Given the description of an element on the screen output the (x, y) to click on. 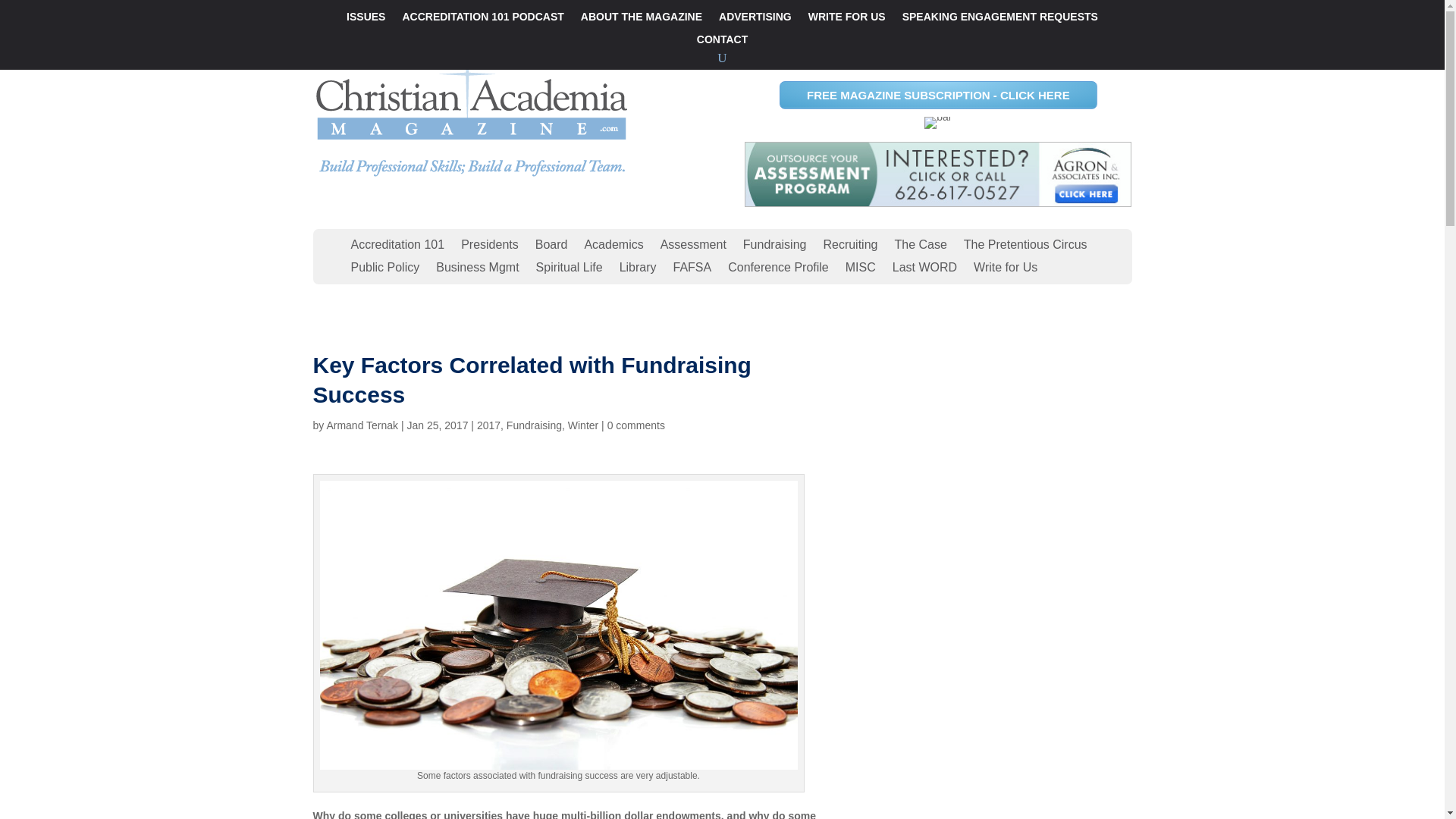
ChristianAcademiaMagazine-logo (471, 112)
FREE MAGAZINE SUBSCRIPTION - CLICK HERE (937, 94)
Public Policy (384, 270)
CONTACT (722, 42)
Accreditation 101 (397, 247)
Winter (582, 425)
WRITE FOR US (846, 19)
Recruiting (849, 247)
Fundraising (534, 425)
Presidents (489, 247)
